Given the description of an element on the screen output the (x, y) to click on. 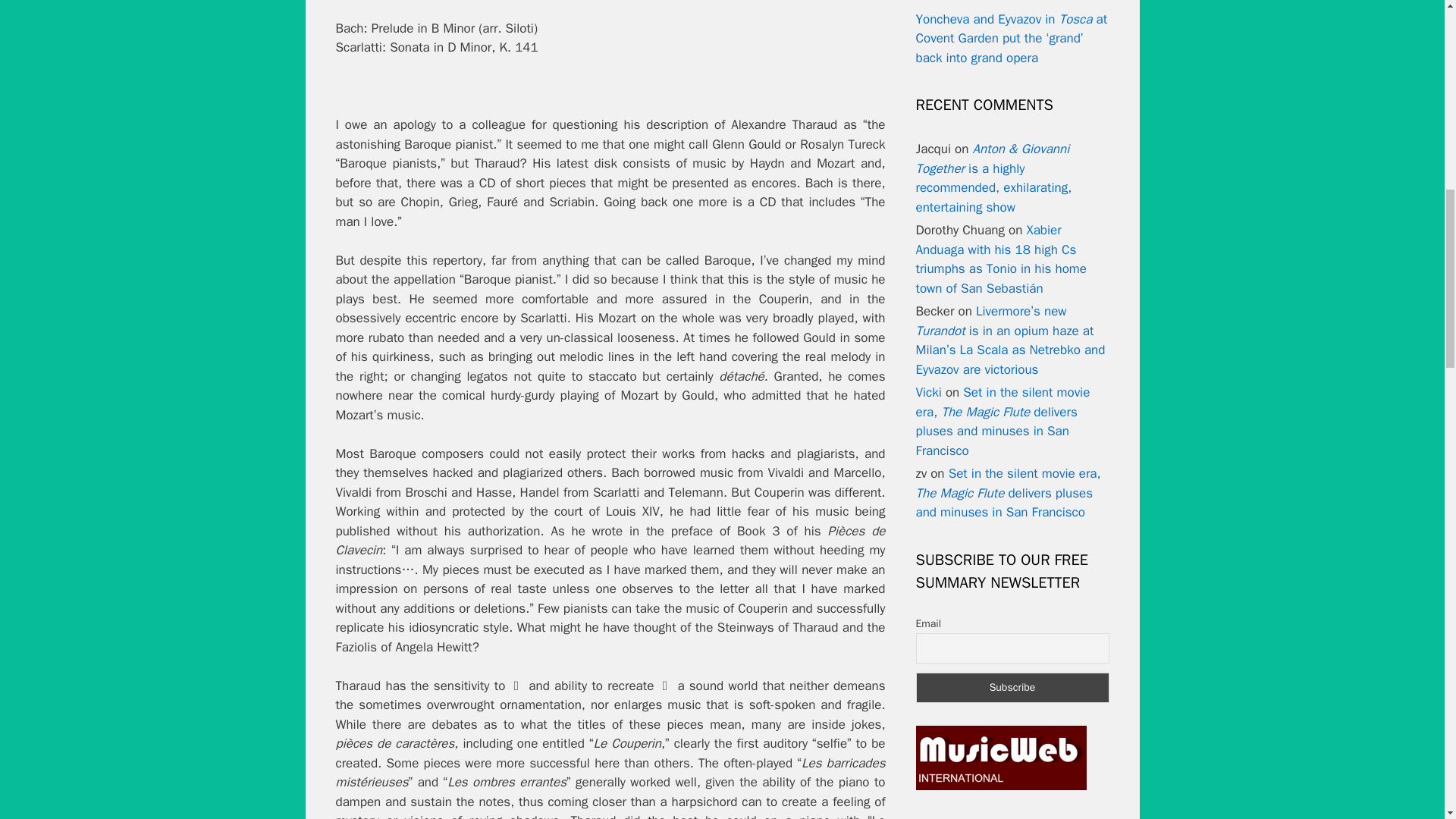
Subscribe (1012, 687)
